Given the description of an element on the screen output the (x, y) to click on. 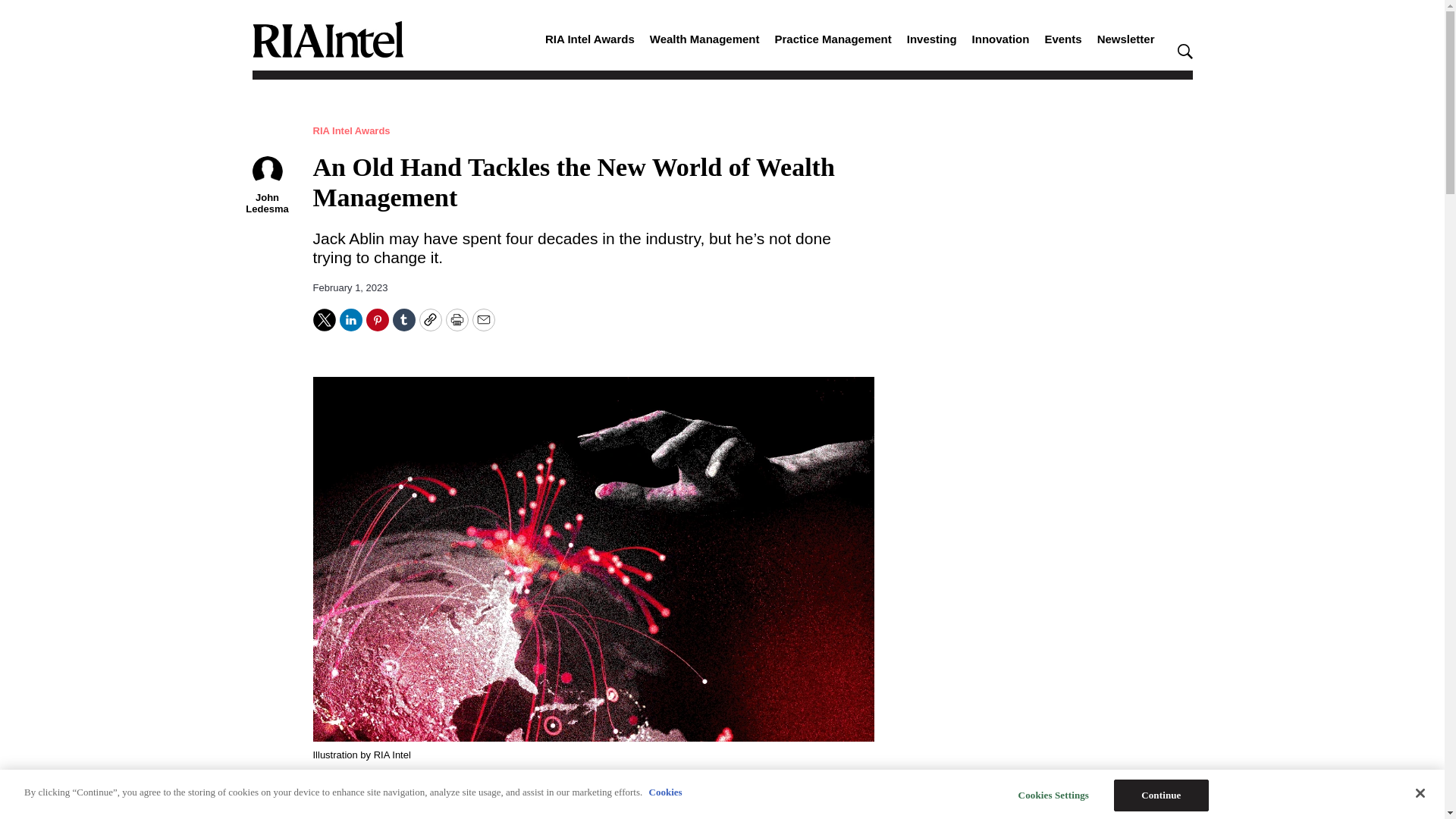
Wealth Management (704, 38)
John Ledesma (266, 202)
RIA Intel Awards (351, 130)
Email (483, 319)
RIA Intel Awards (589, 38)
Investing (931, 38)
Practice Management (832, 38)
Twitter (323, 319)
Tumblr (403, 319)
Innovation (1000, 38)
Newsletter (1125, 38)
Pinterest (376, 319)
Events (1062, 38)
Show Search (1184, 51)
Print (456, 319)
